Given the description of an element on the screen output the (x, y) to click on. 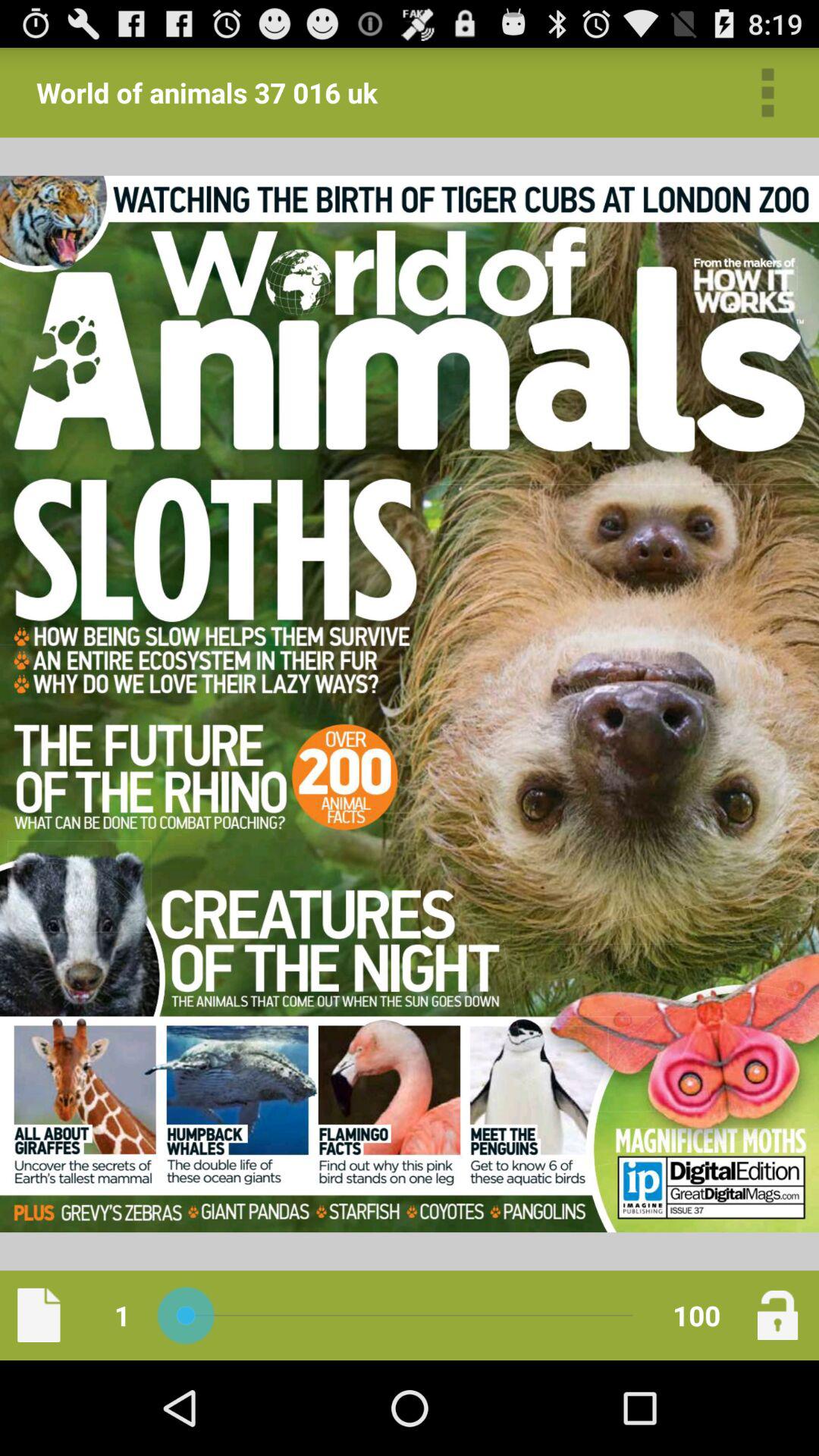
select icon below world of animals icon (38, 1315)
